Given the description of an element on the screen output the (x, y) to click on. 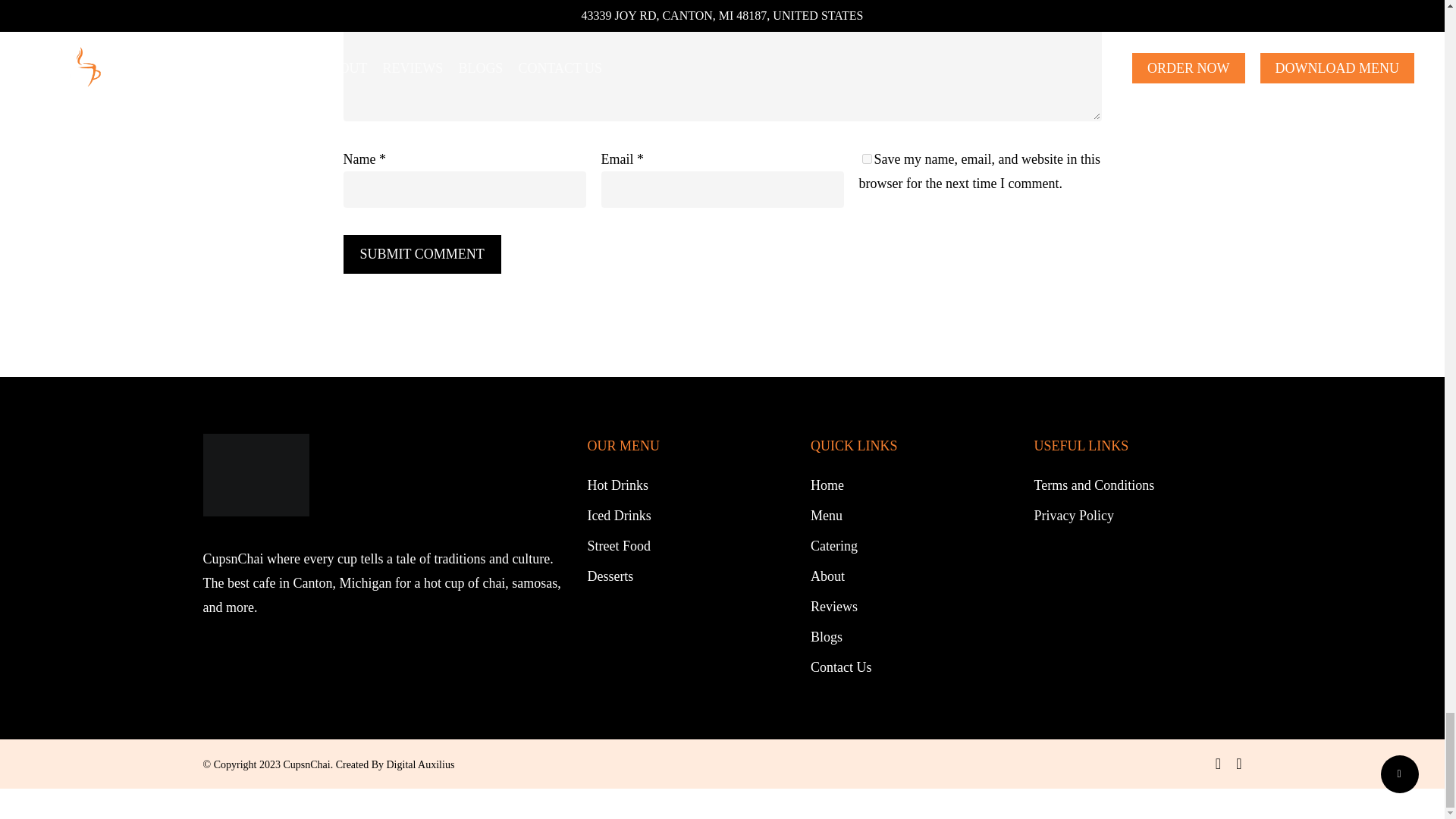
Submit Comment (421, 254)
yes (865, 158)
Submit Comment (421, 254)
